Given the description of an element on the screen output the (x, y) to click on. 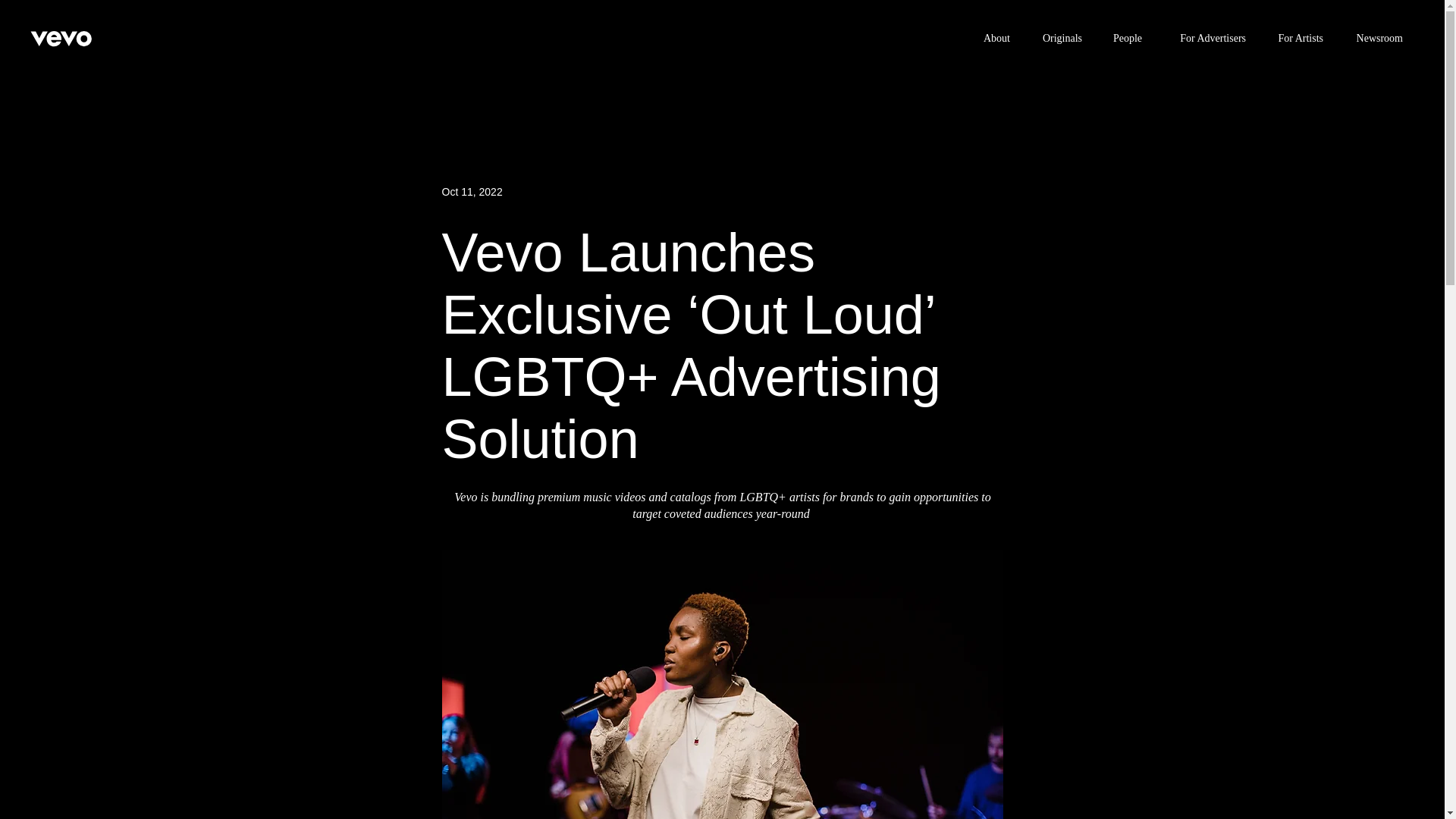
Newsroom (1374, 37)
People (1123, 37)
For Artists (1296, 37)
Oct 11, 2022 (471, 191)
About (994, 37)
Originals (1057, 37)
For Advertisers (1205, 37)
